Given the description of an element on the screen output the (x, y) to click on. 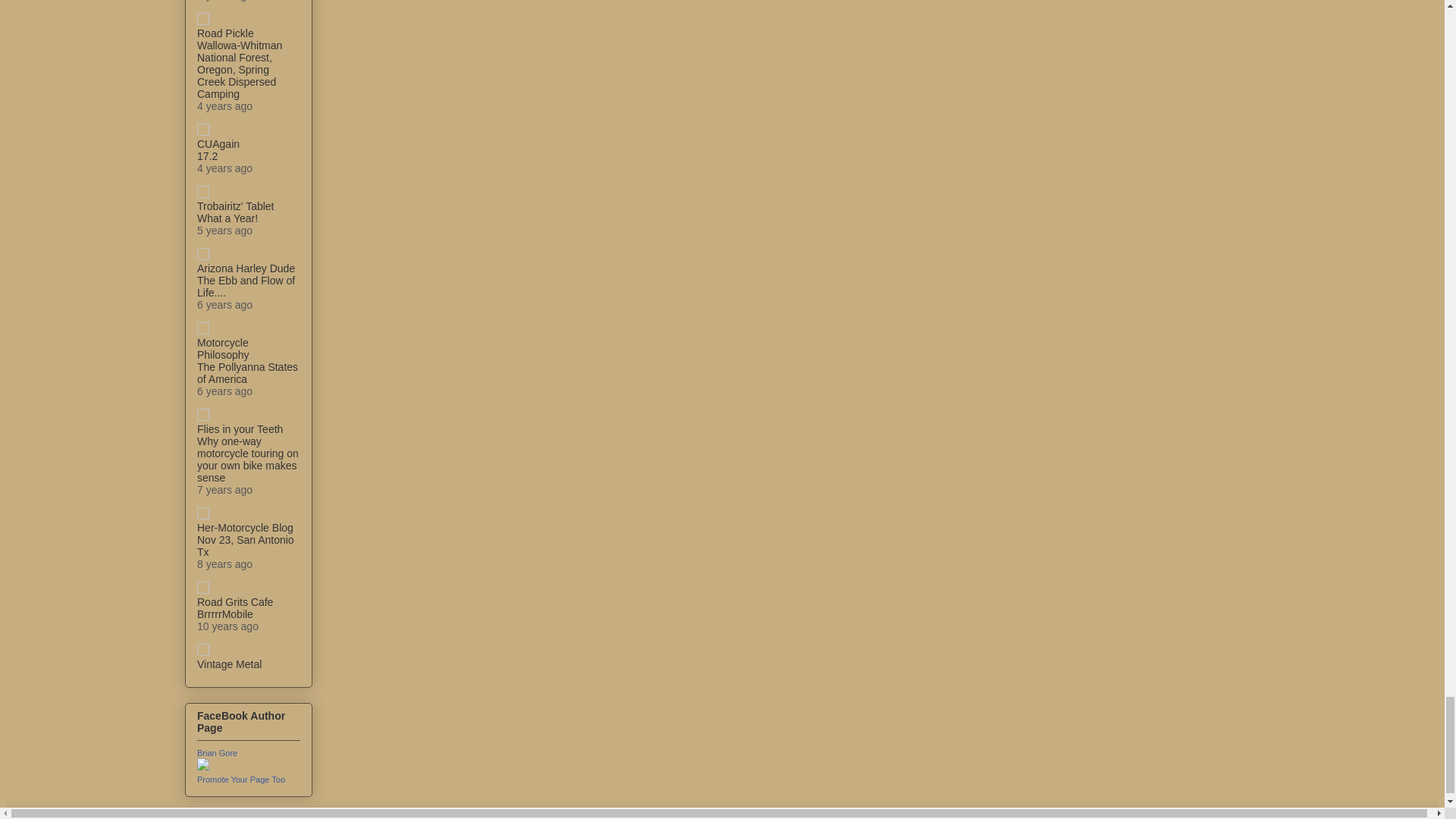
Brian Gore (202, 766)
Make your own badge! (240, 778)
Brian Gore (216, 752)
